Given the description of an element on the screen output the (x, y) to click on. 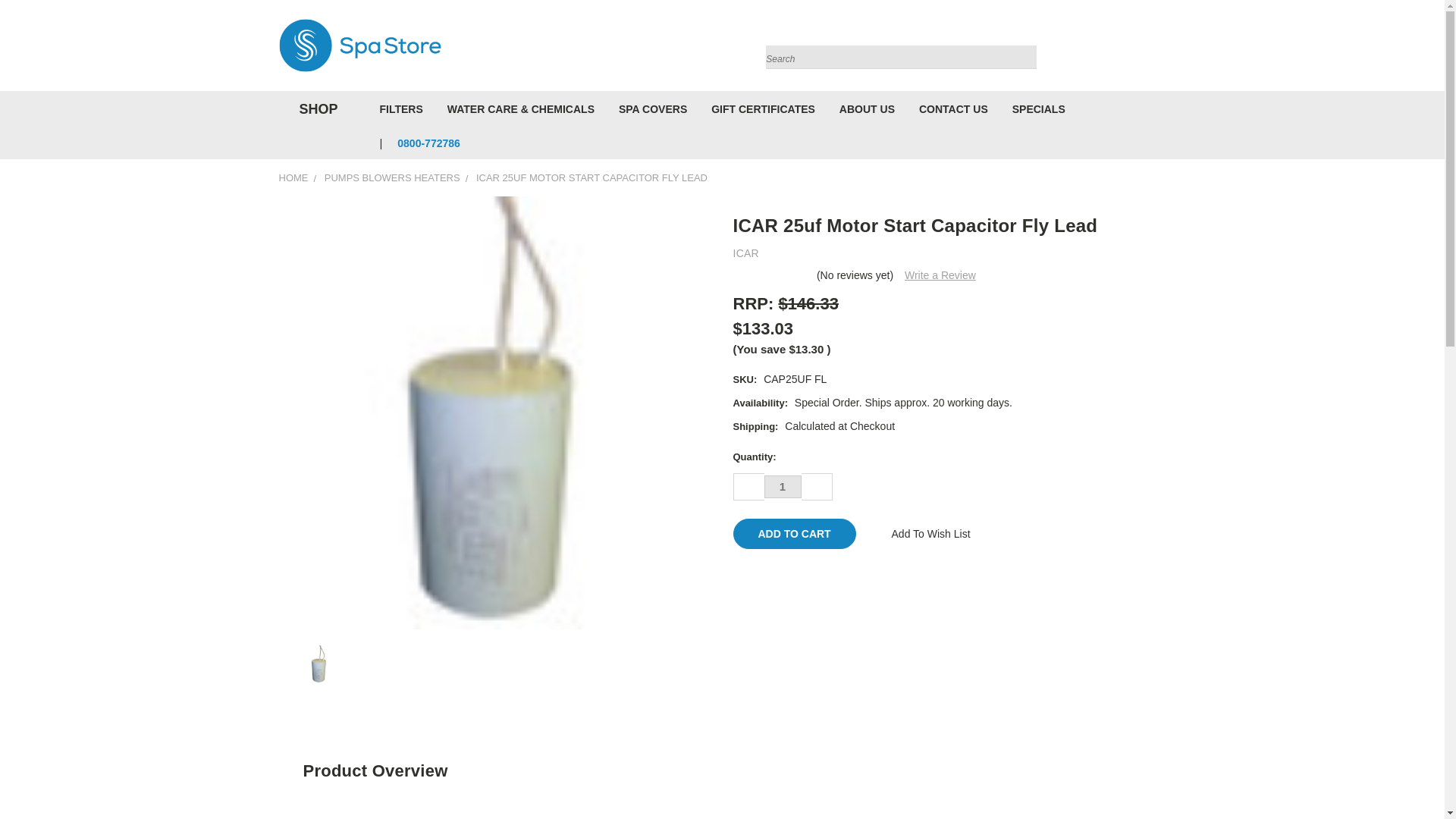
User Toolbox (1105, 48)
SHOP (314, 109)
Spa Store New Zealand Ltd (360, 45)
1 (783, 486)
Gift Certificates (1135, 48)
Add to Cart (794, 533)
